Given the description of an element on the screen output the (x, y) to click on. 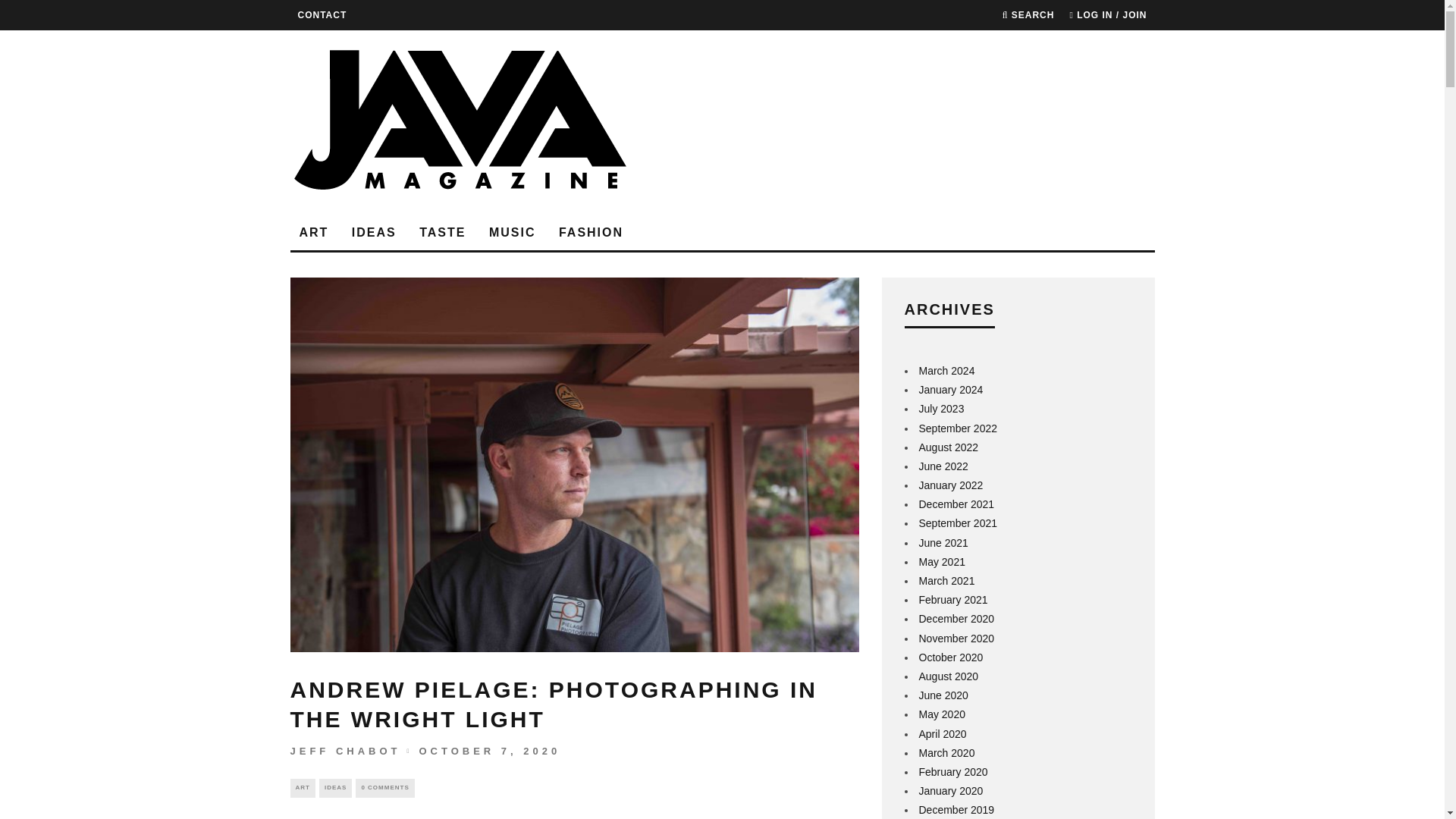
CONTACT (321, 15)
ART (313, 233)
SEARCH (1028, 15)
JEFF CHABOT (344, 750)
MUSIC (512, 233)
IDEAS (374, 233)
0 COMMENTS (384, 787)
Search (1028, 15)
FASHION (590, 233)
View all posts in Art (301, 787)
View all posts in Ideas (335, 787)
Log In (721, 422)
ART (301, 787)
IDEAS (335, 787)
TASTE (442, 233)
